Given the description of an element on the screen output the (x, y) to click on. 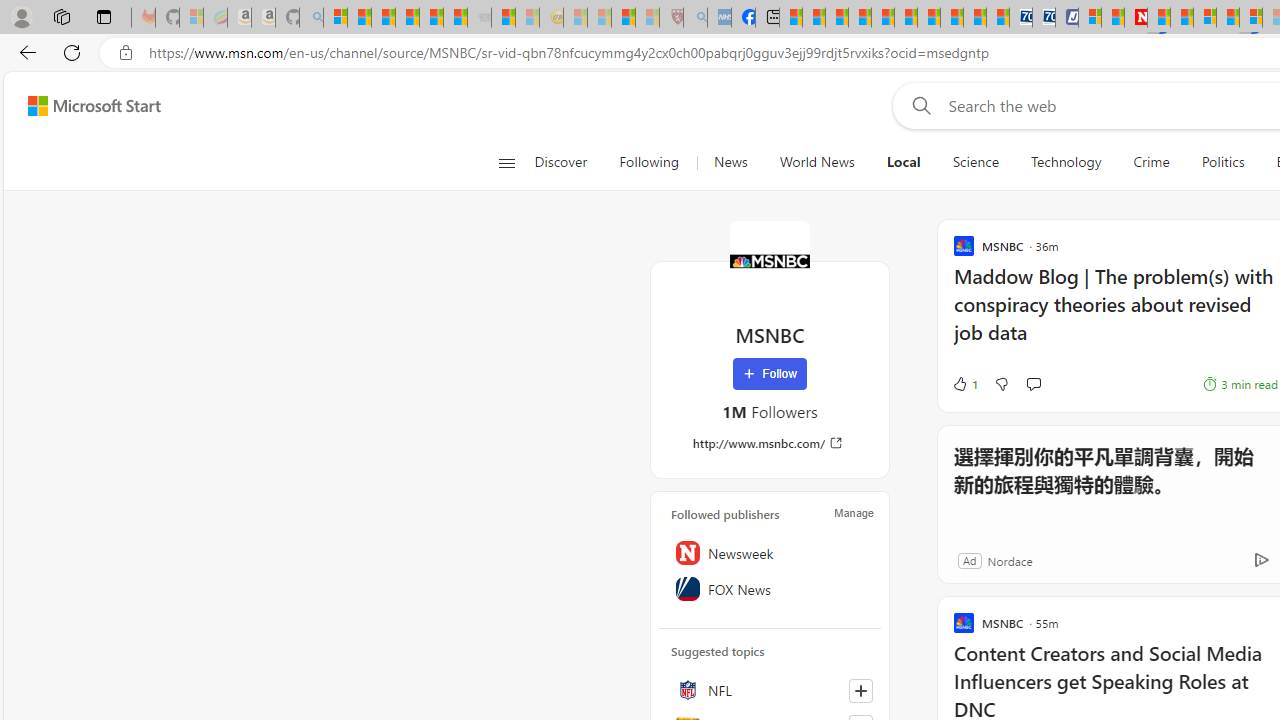
Science (975, 162)
Ad Choice (1261, 560)
Technology (1066, 162)
MSNBC (769, 260)
Climate Damage Becomes Too Severe To Reverse (859, 17)
Technology (1065, 162)
Recipes - MSN - Sleeping (575, 17)
